Given the description of an element on the screen output the (x, y) to click on. 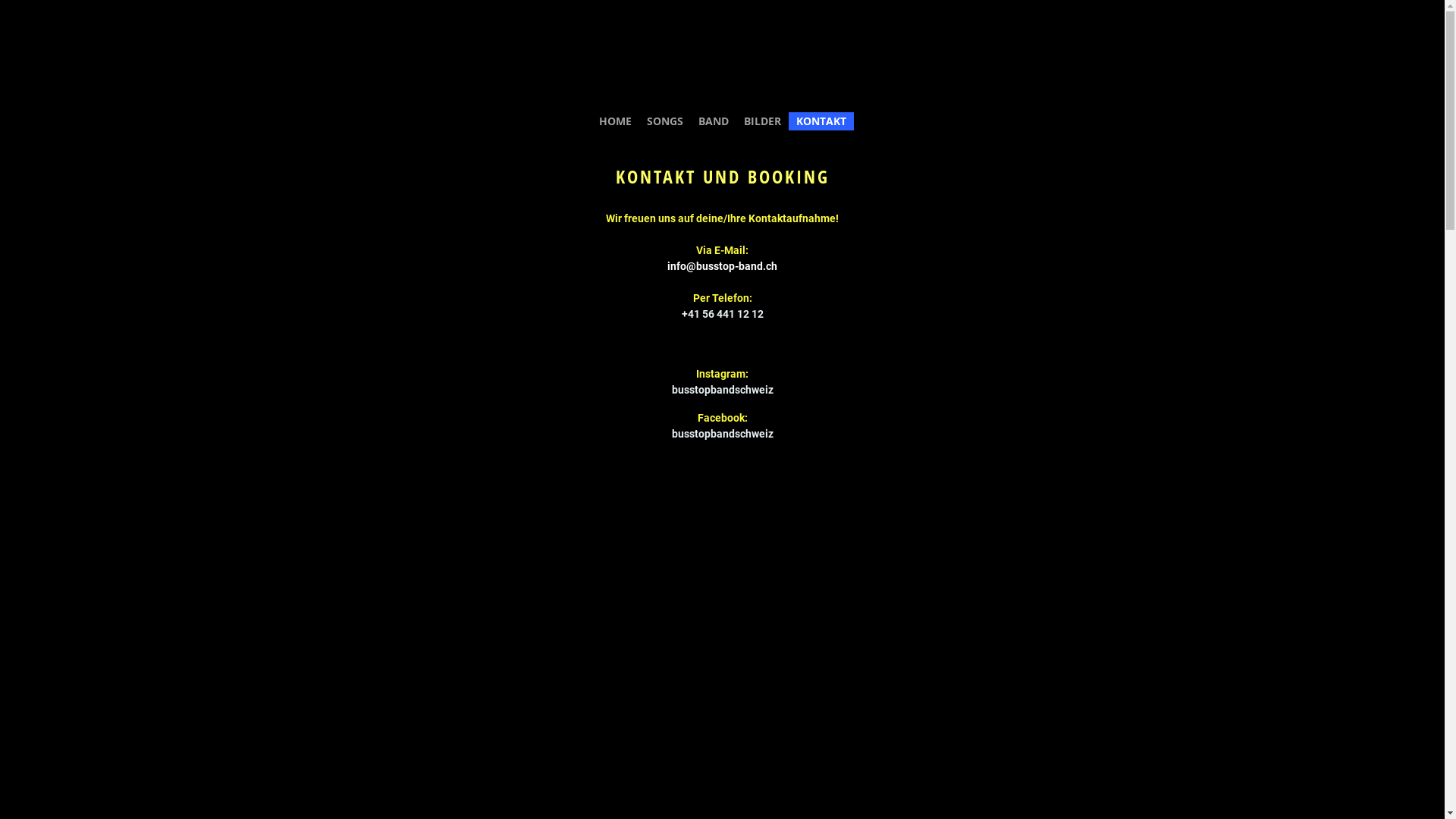
BILDER Element type: text (761, 121)
HOME Element type: text (615, 121)
SONGS Element type: text (664, 121)
BAND Element type: text (712, 121)
busstopbandschweiz Element type: text (722, 433)
KONTAKT Element type: text (820, 121)
+41 56 441 12 12 Element type: text (721, 313)
busstopbandschweiz Element type: text (722, 389)
info@busstop-band.ch Element type: text (722, 266)
